Given the description of an element on the screen output the (x, y) to click on. 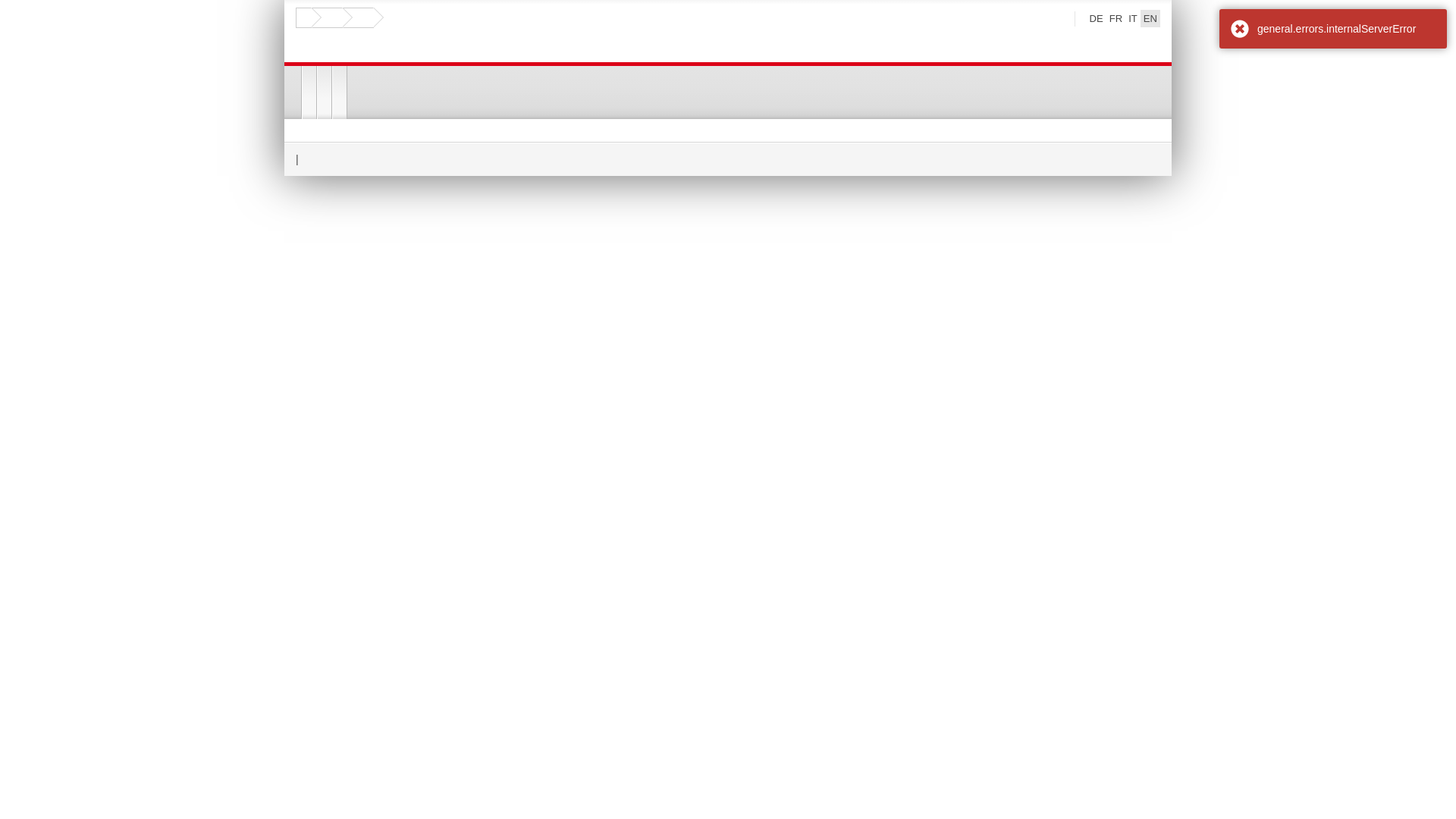
DE Element type: text (1096, 18)
EN Element type: text (1150, 18)
FR Element type: text (1115, 18)
IT Element type: text (1132, 18)
